Given the description of an element on the screen output the (x, y) to click on. 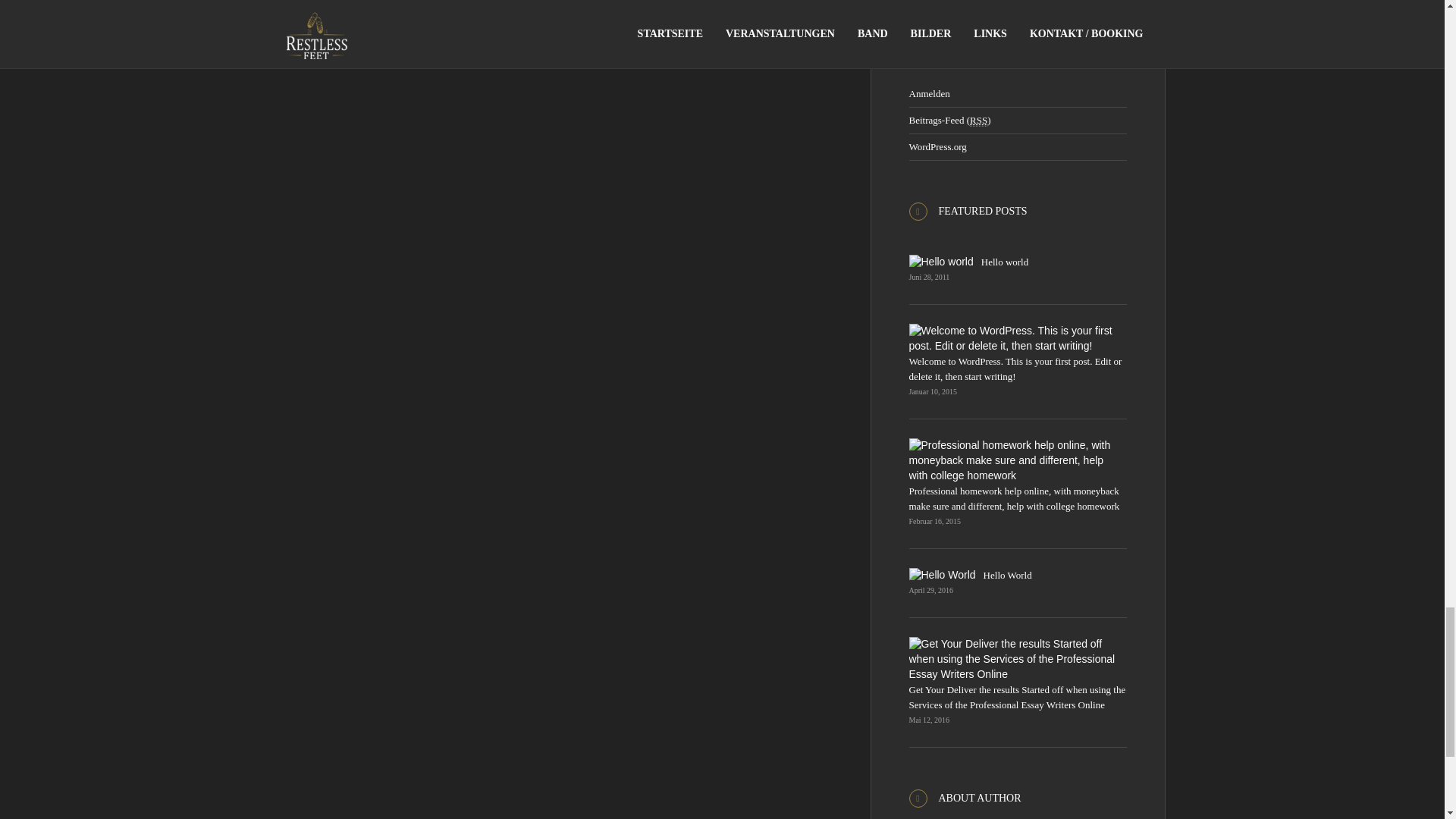
Really Simple Syndication (978, 120)
